Given the description of an element on the screen output the (x, y) to click on. 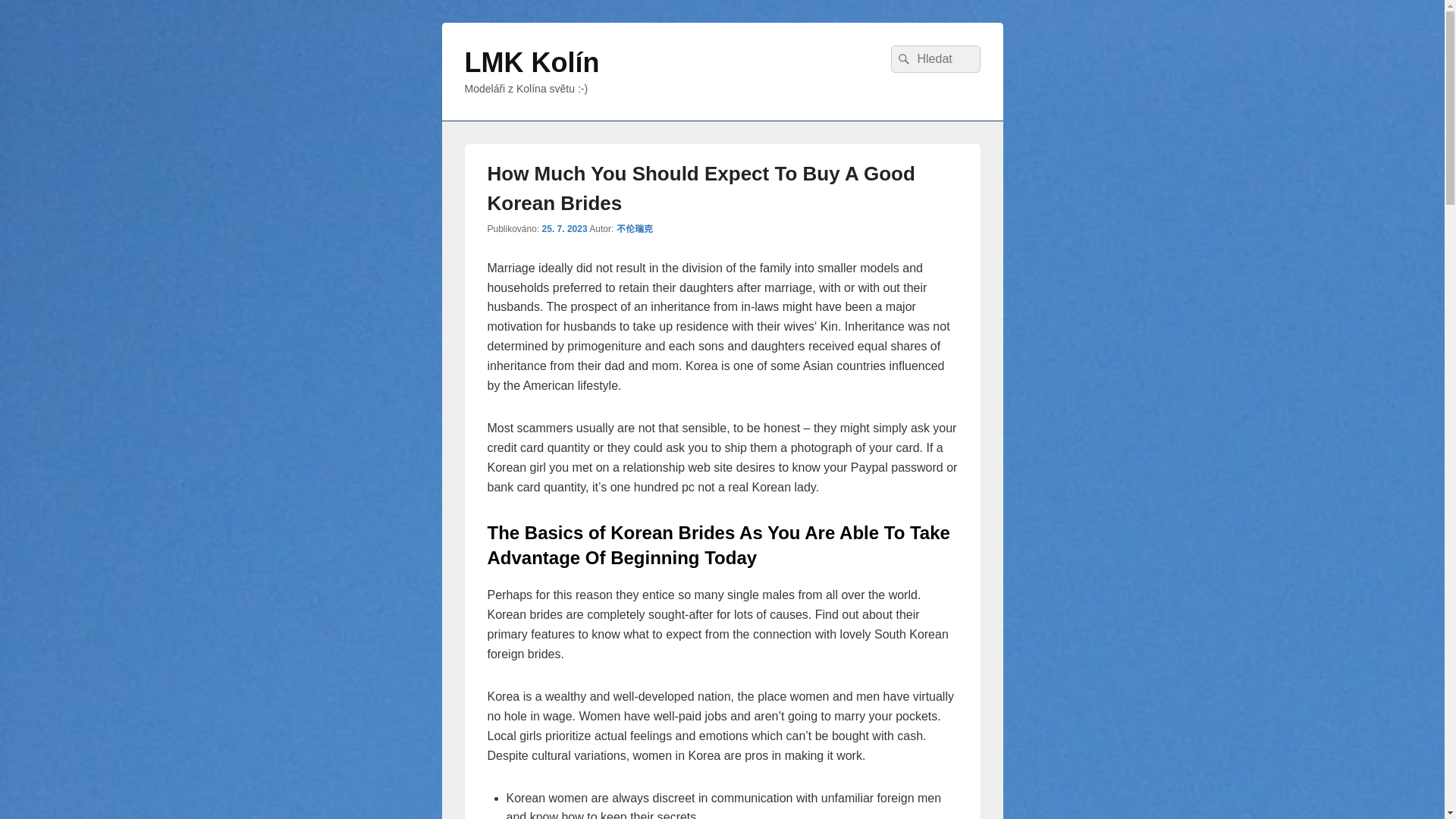
25. 7. 2023 (564, 228)
Search (900, 58)
18.42 (564, 228)
Search for: (934, 58)
